Given the description of an element on the screen output the (x, y) to click on. 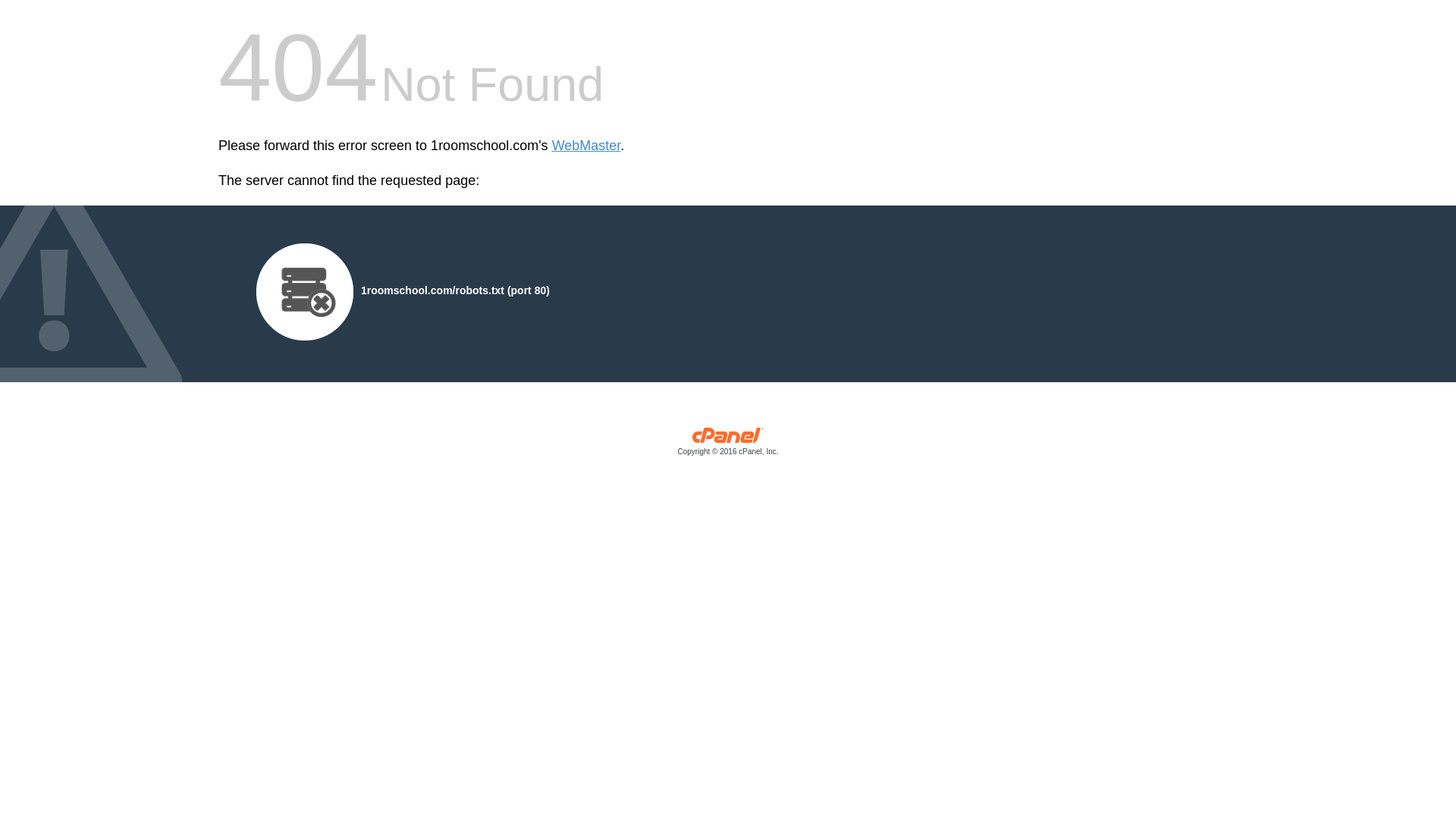
WebMaster Element type: text (586, 145)
